Given the description of an element on the screen output the (x, y) to click on. 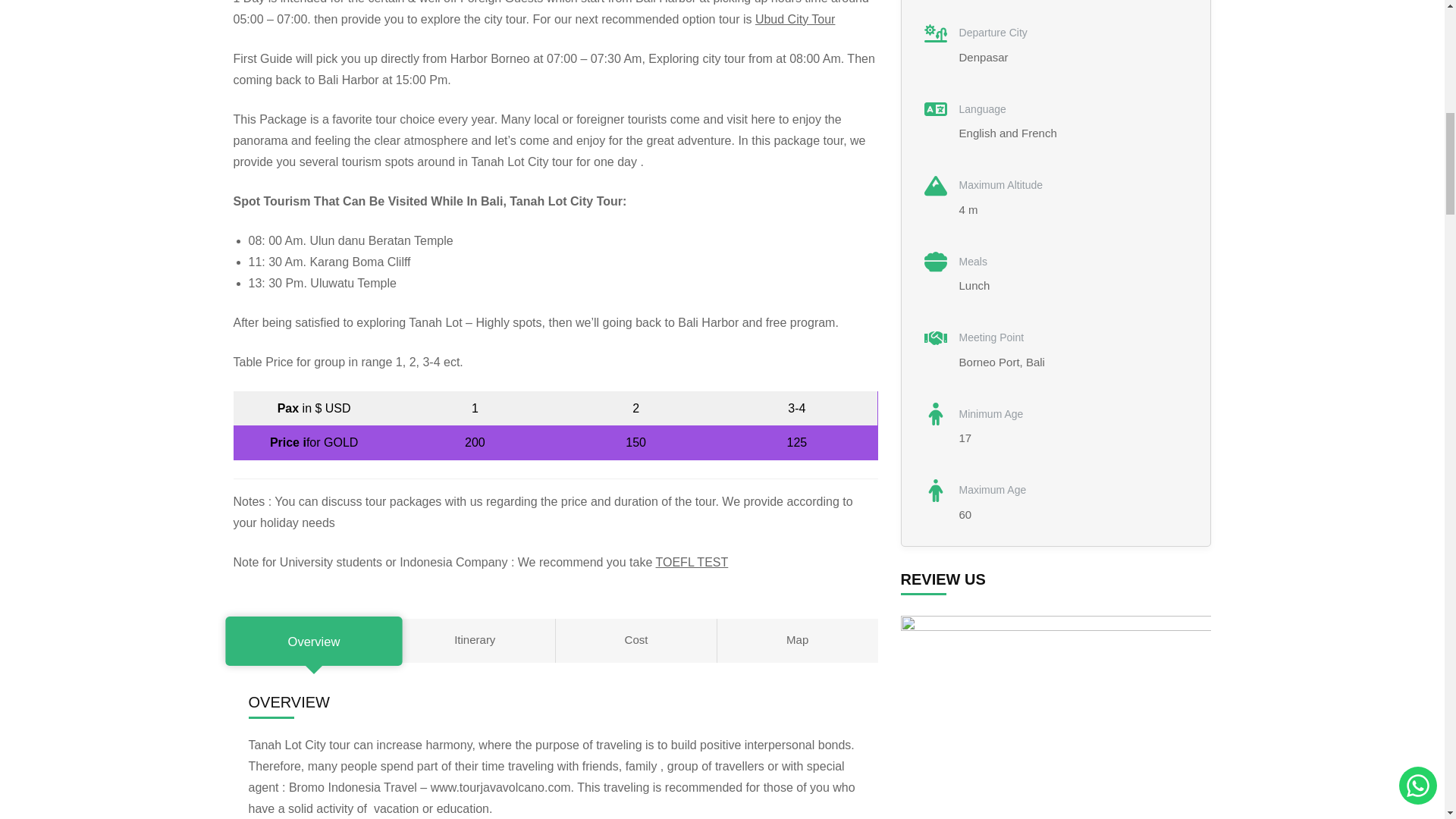
REVIEW US (1056, 717)
